Given the description of an element on the screen output the (x, y) to click on. 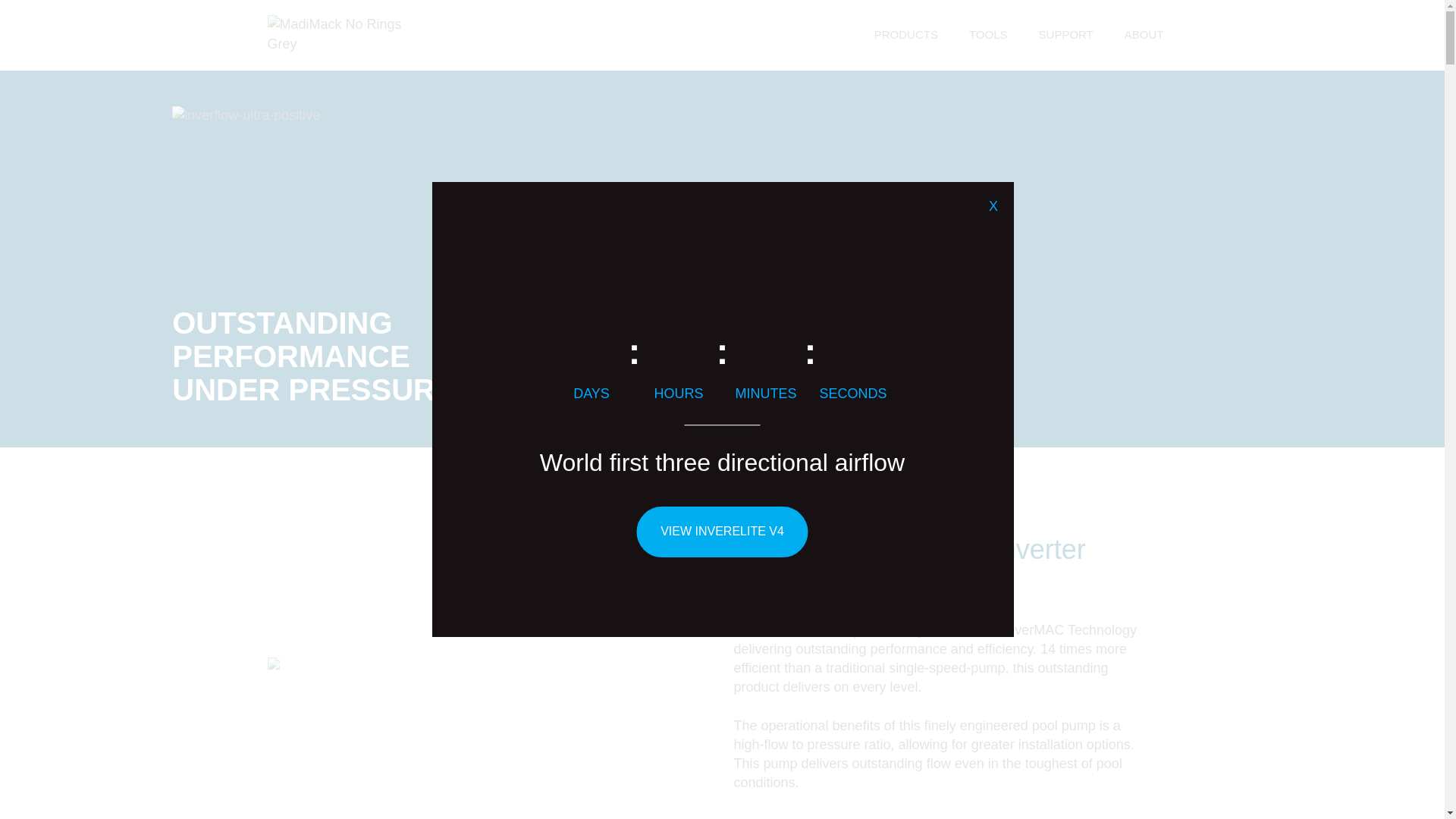
PRODUCTS (906, 34)
